Given the description of an element on the screen output the (x, y) to click on. 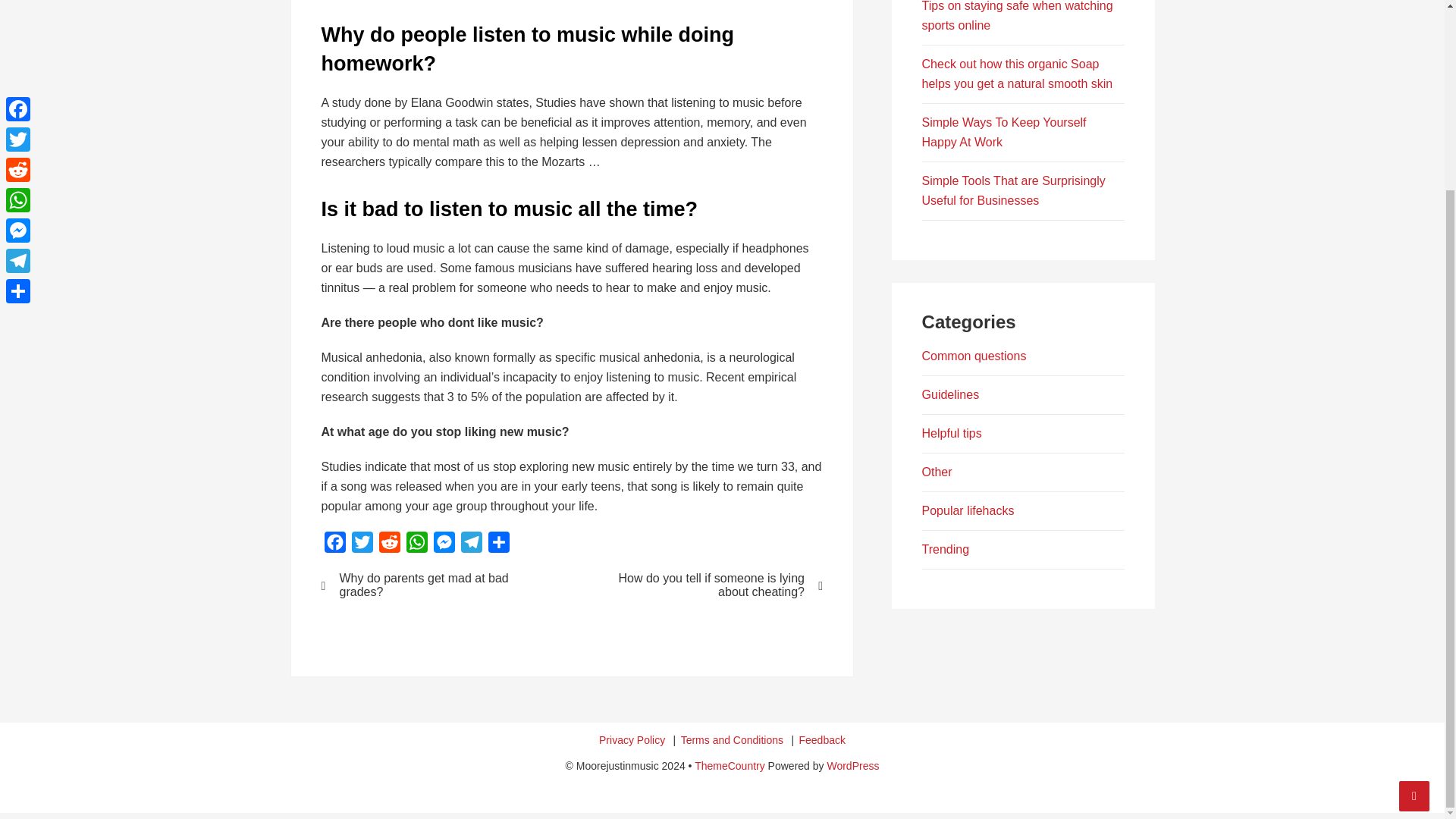
Other (936, 472)
Telegram (471, 545)
Simple Tools That are Surprisingly Useful for Businesses (1013, 190)
ThemeCountry (729, 766)
Trending (945, 549)
Privacy Policy (631, 740)
Common questions (973, 355)
Messenger (444, 545)
Reddit (389, 545)
Popular lifehacks (967, 510)
Messenger (17, 4)
Facebook (335, 545)
Twitter (362, 545)
WhatsApp (416, 545)
Twitter (362, 545)
